Given the description of an element on the screen output the (x, y) to click on. 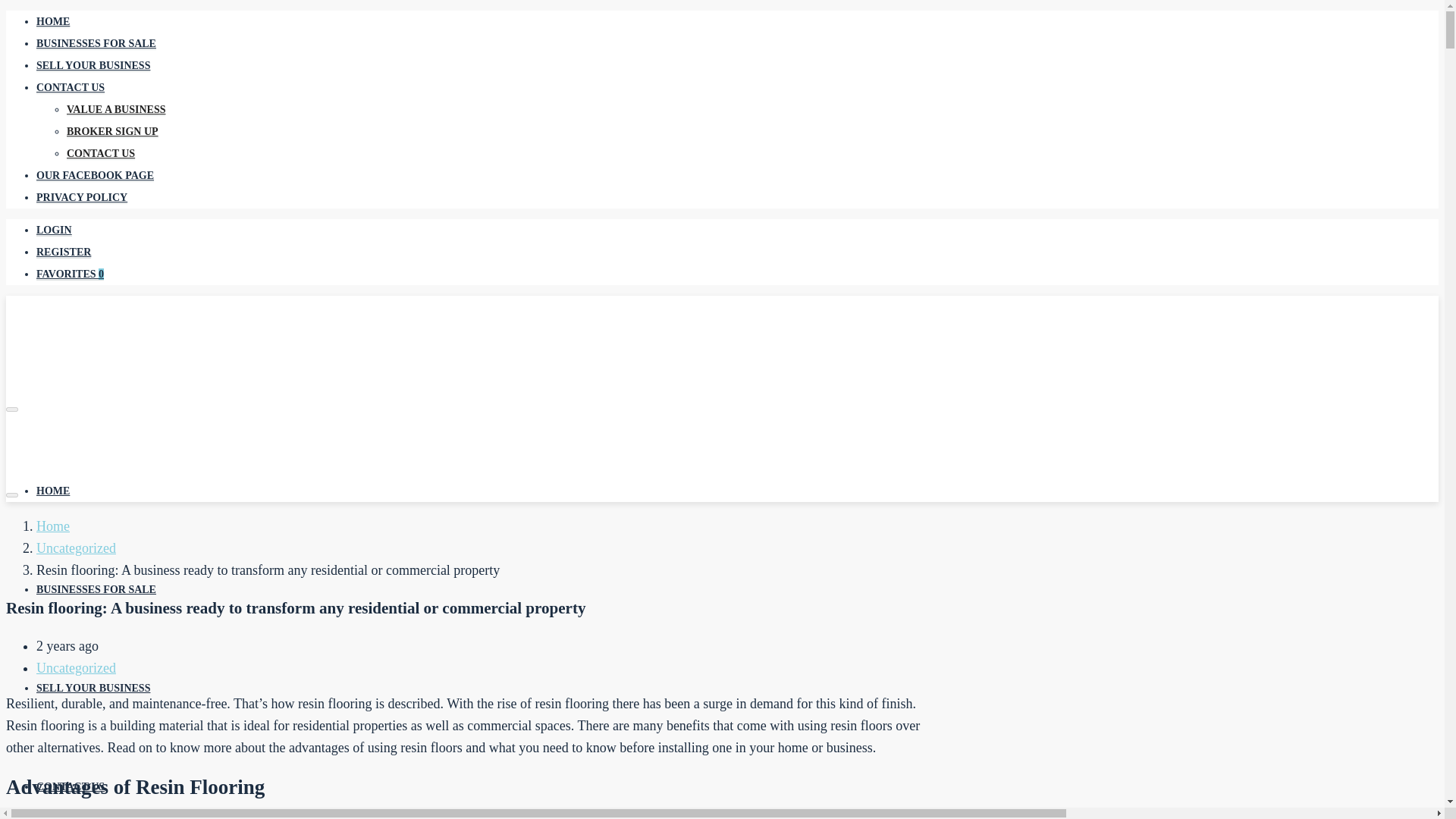
CONTACT US (70, 786)
HOME (52, 490)
CONTACT US (70, 87)
BUSINESSES FOR SALE (95, 589)
CONTACT US (100, 153)
SELL YOUR BUSINESS (92, 687)
LOGIN (53, 230)
VALUE A BUSINESS (115, 110)
PRIVACY POLICY (82, 197)
REGISTER (63, 252)
